Given the description of an element on the screen output the (x, y) to click on. 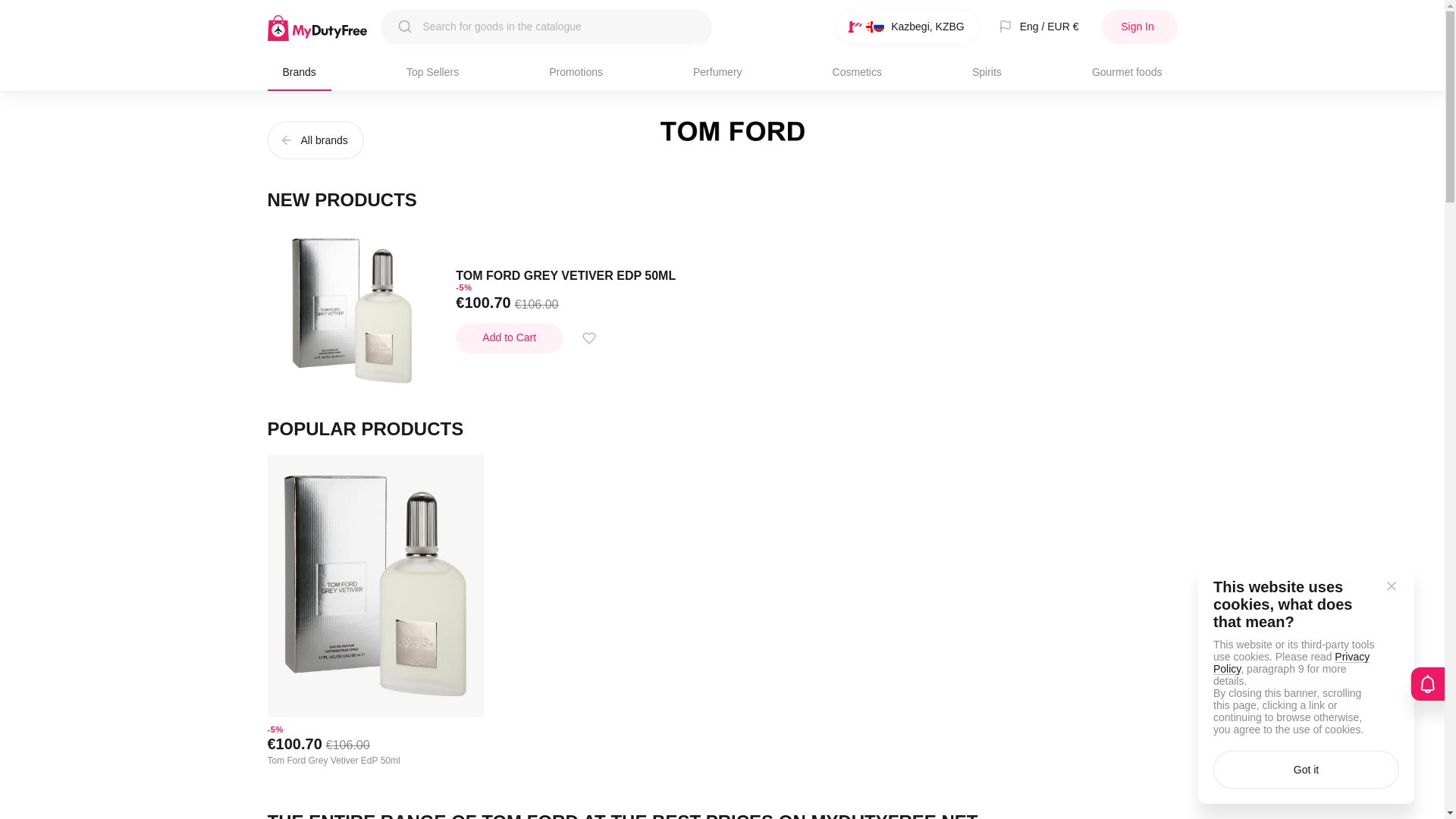
Spirits (986, 71)
Perfumery (717, 71)
TOM FORD GREY VETIVER EDP 50ML (565, 275)
Top Sellers (432, 71)
All brands (314, 139)
Brands (298, 71)
Promotions (575, 71)
Cosmetics (856, 71)
Gourmet foods (1127, 71)
